Given the description of an element on the screen output the (x, y) to click on. 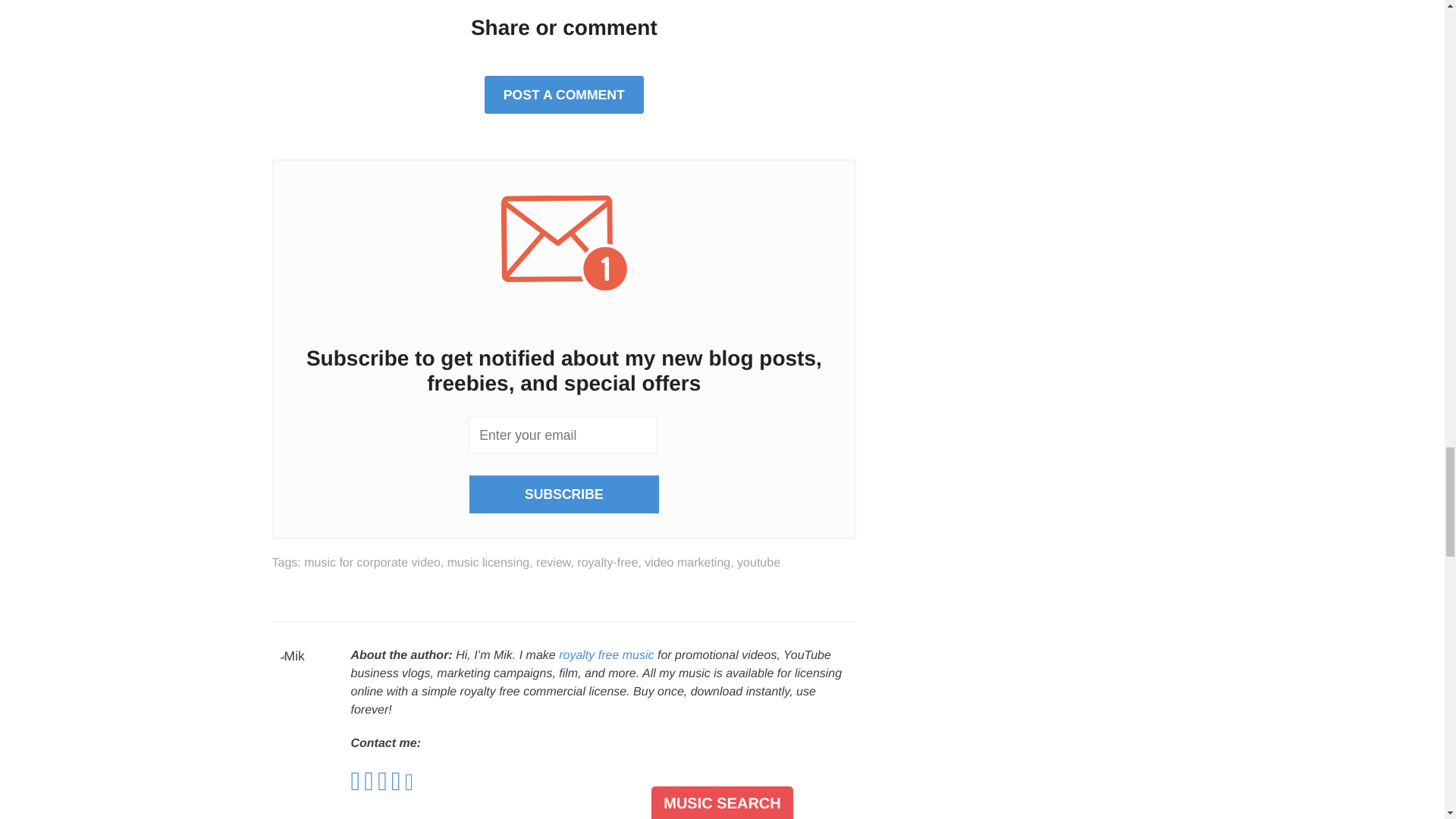
youtube (758, 562)
royalty-free (606, 562)
music licensing (487, 562)
video marketing (687, 562)
review (552, 562)
music for corporate video (372, 562)
royalty free music (606, 655)
Buy royalty free music for commercial use (606, 655)
POST A COMMENT (563, 94)
SUBSCRIBE (563, 494)
SUBSCRIBE (563, 494)
Post a comment (563, 94)
